Given the description of an element on the screen output the (x, y) to click on. 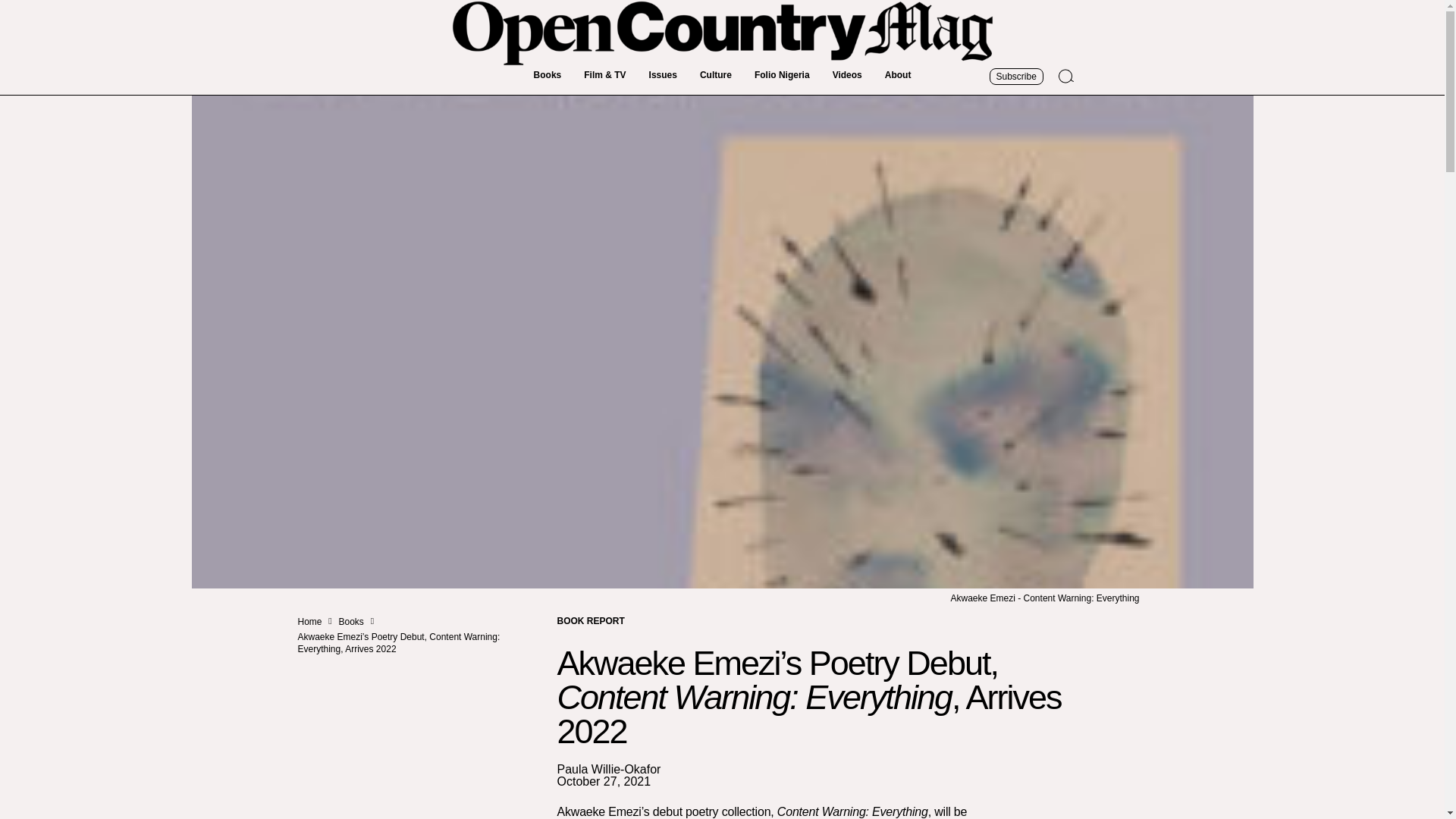
Books (351, 621)
About (898, 74)
Home (309, 621)
BOOK REPORT (590, 620)
Subscribe (1015, 76)
Books (548, 74)
Home (309, 621)
Issues (663, 74)
Folio Nigeria (781, 74)
Culture (716, 74)
